Given the description of an element on the screen output the (x, y) to click on. 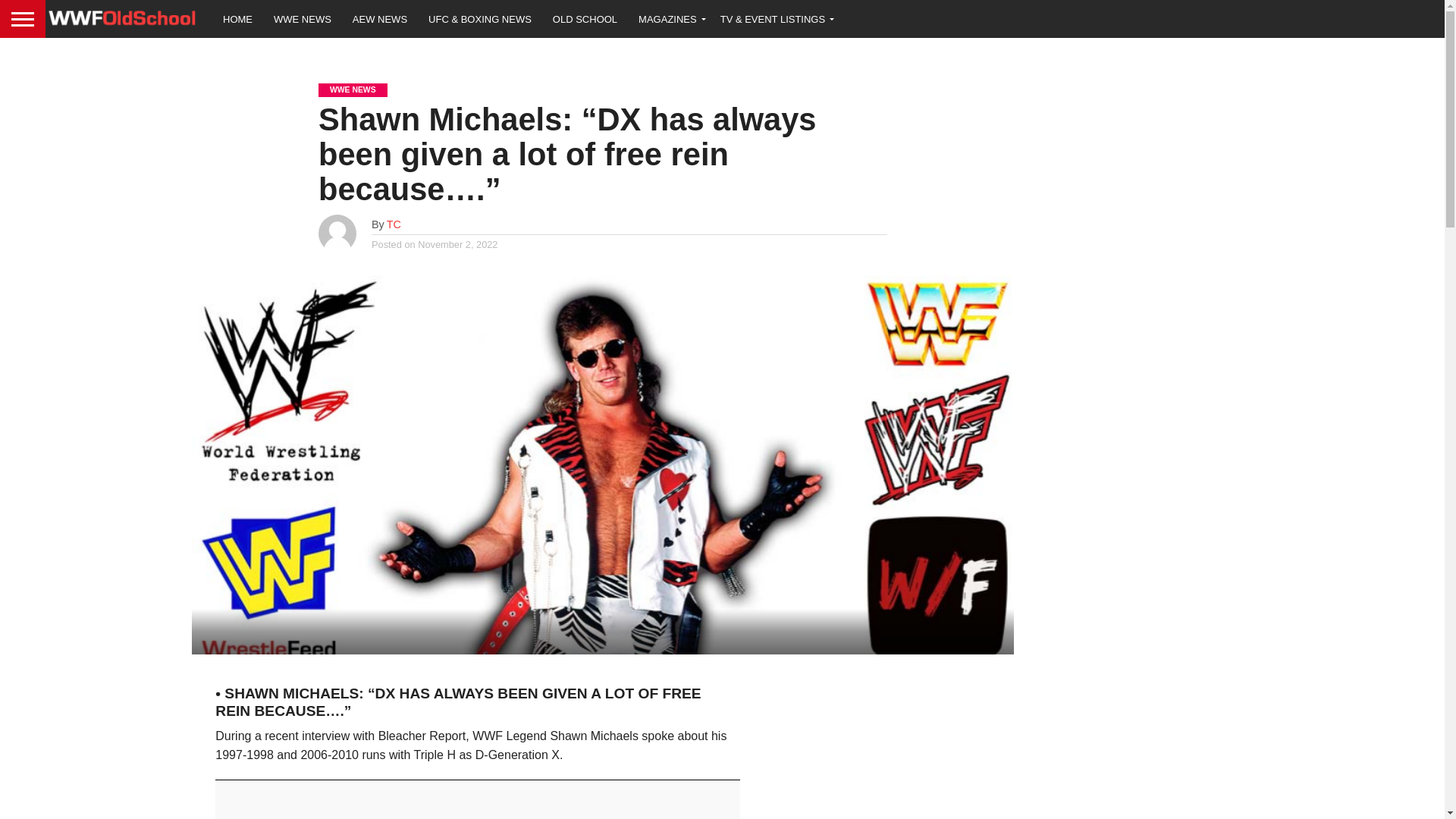
OLD SCHOOL (584, 18)
Posts by TC (394, 224)
HOME (237, 18)
WWE NEWS (302, 18)
MAGAZINES (668, 18)
AEW NEWS (379, 18)
